Given the description of an element on the screen output the (x, y) to click on. 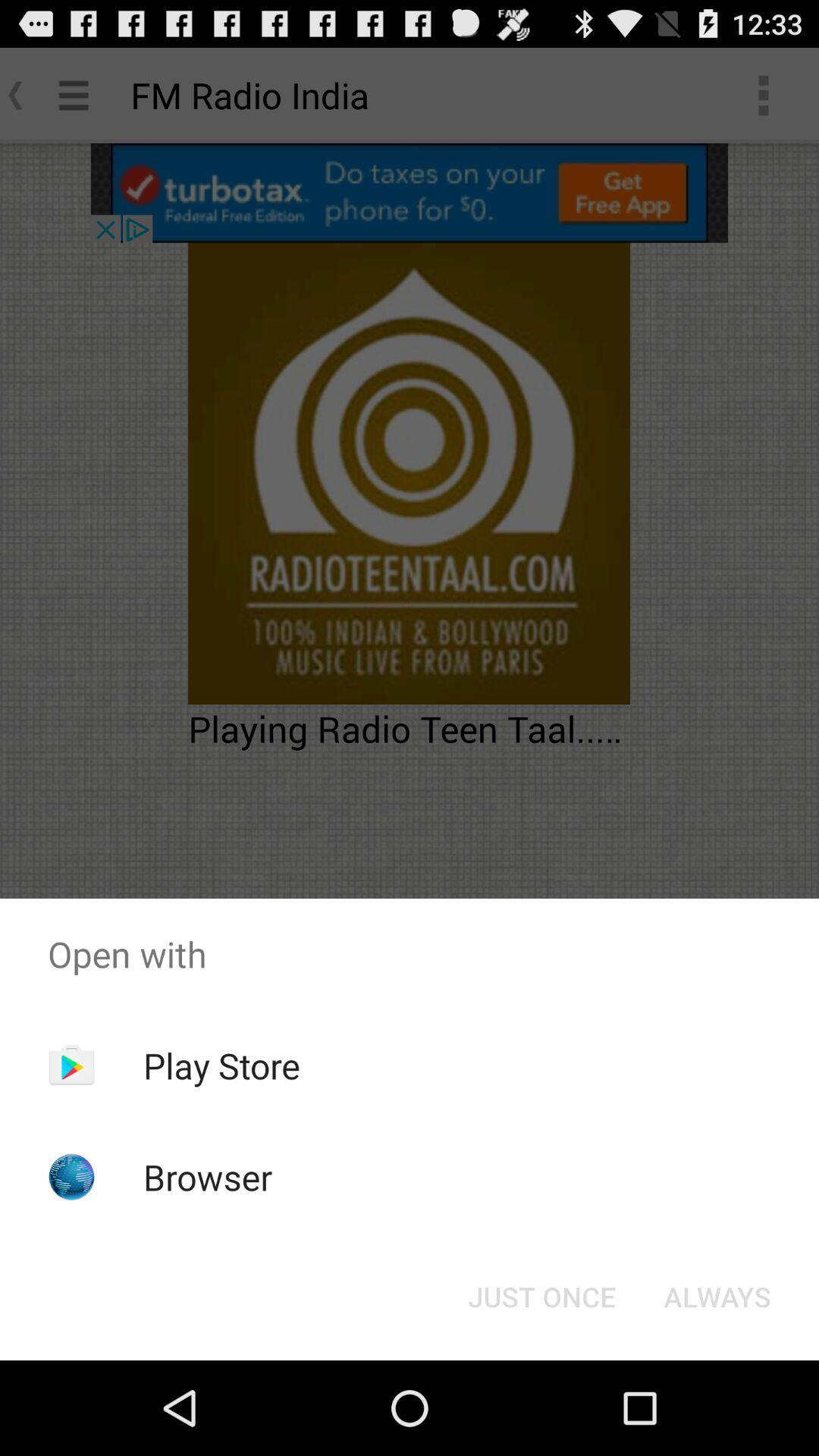
turn off the icon below the open with icon (717, 1296)
